Given the description of an element on the screen output the (x, y) to click on. 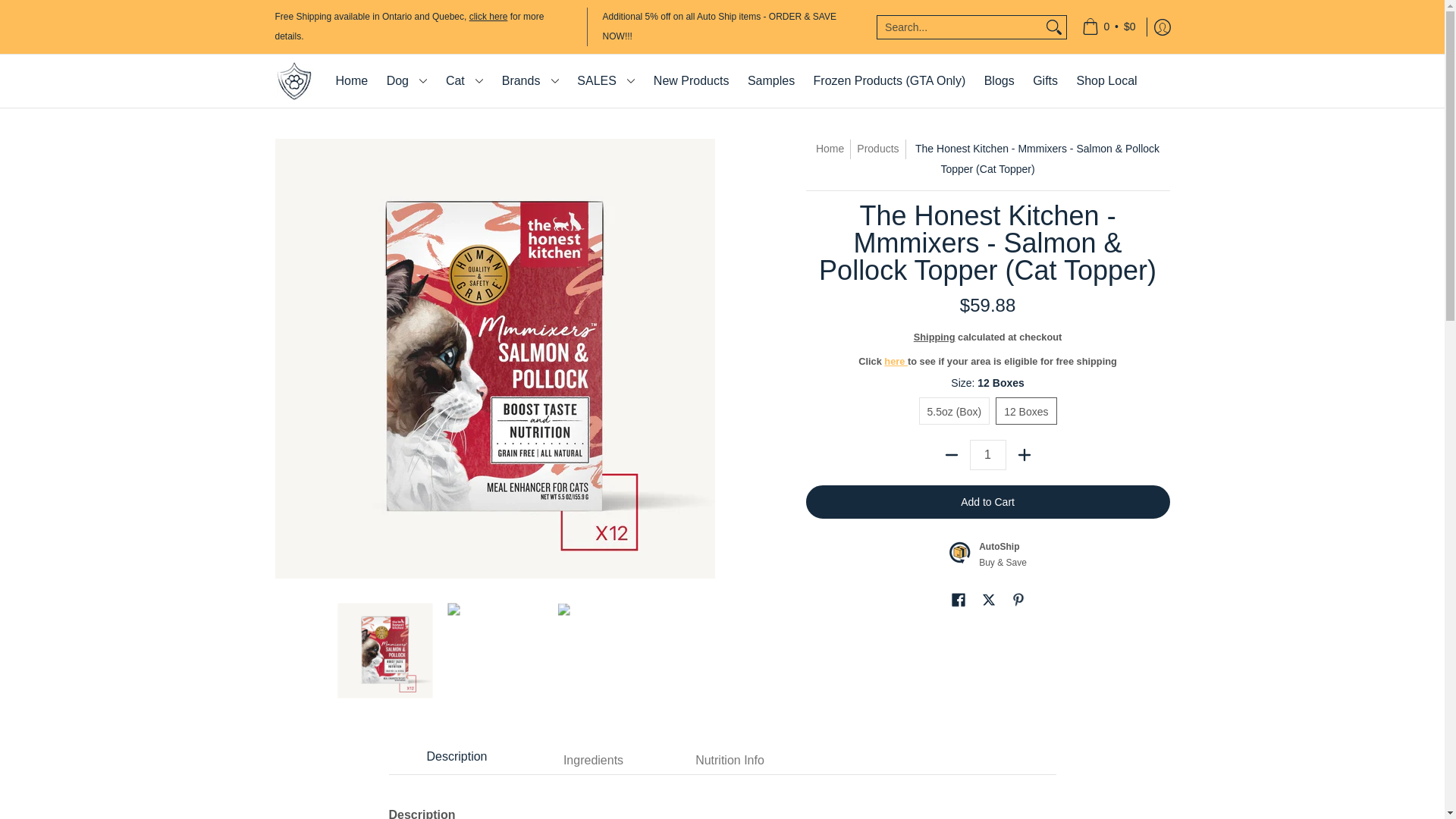
12 Boxes (1026, 411)
1 (987, 454)
Dog (406, 80)
Home (351, 80)
Cart (1108, 27)
click here (488, 16)
Shipping Info (488, 16)
Home (351, 80)
Dog (406, 80)
